Given the description of an element on the screen output the (x, y) to click on. 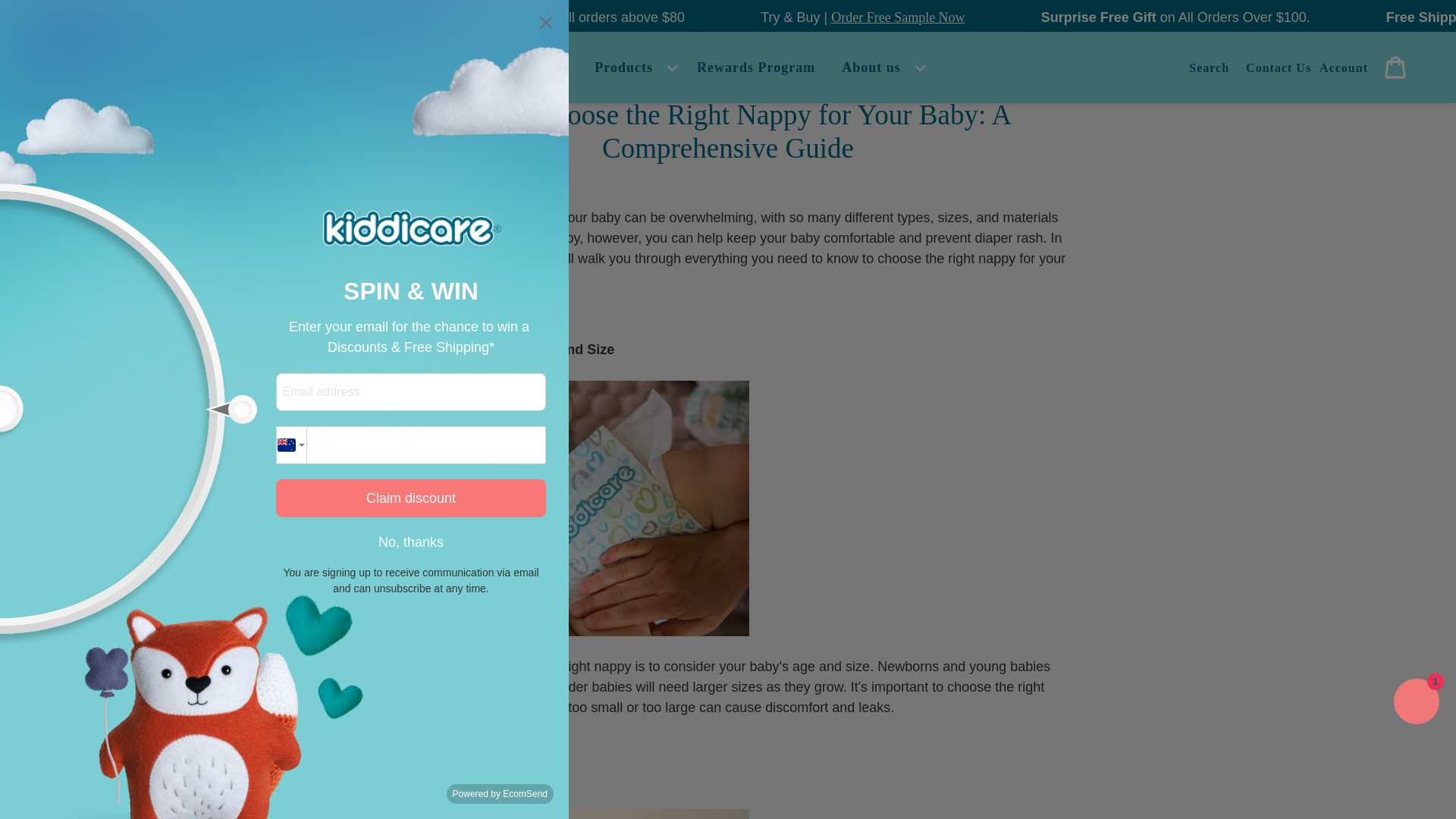
Order Free Sample Now (1061, 17)
Contact Us (1278, 67)
Order Free Sample Now (124, 17)
Powered by EcomSend (499, 793)
About us (880, 66)
Search (1208, 67)
Products (623, 66)
Home (548, 66)
Products (632, 66)
Rewards Program (755, 66)
Shopify online store chat (1416, 703)
About us (871, 66)
Account (1343, 67)
